Given the description of an element on the screen output the (x, y) to click on. 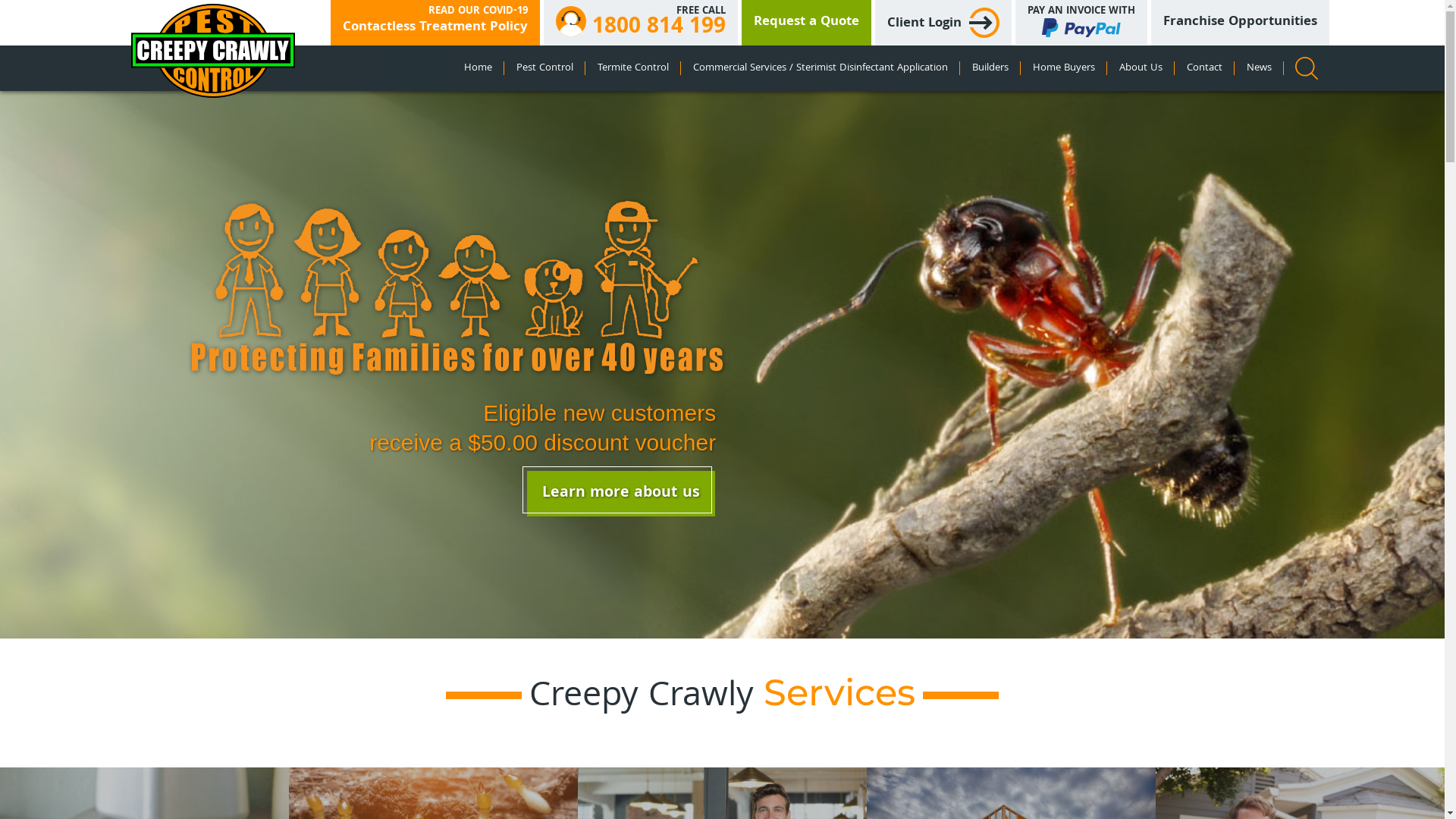
Commercial Services / Sterimist Disinfectant Application Element type: text (820, 68)
Home Element type: text (477, 68)
News Element type: text (1258, 68)
Learn more about us Element type: text (620, 493)
Home Buyers Element type: text (1063, 68)
Pest Control Element type: text (543, 68)
READ OUR COVID-19
Contactless Treatment Policy Element type: text (434, 22)
Request a Quote Element type: text (806, 22)
Termite Control Element type: text (632, 68)
Builders Element type: text (990, 68)
Franchise Opportunities Element type: text (1240, 22)
Client Login Element type: text (943, 22)
FREE CALL
1800 814 199 Element type: text (639, 22)
About Us Element type: text (1140, 68)
Contact Element type: text (1203, 68)
PAY AN INVOICE WITH Element type: text (1080, 22)
